Given the description of an element on the screen output the (x, y) to click on. 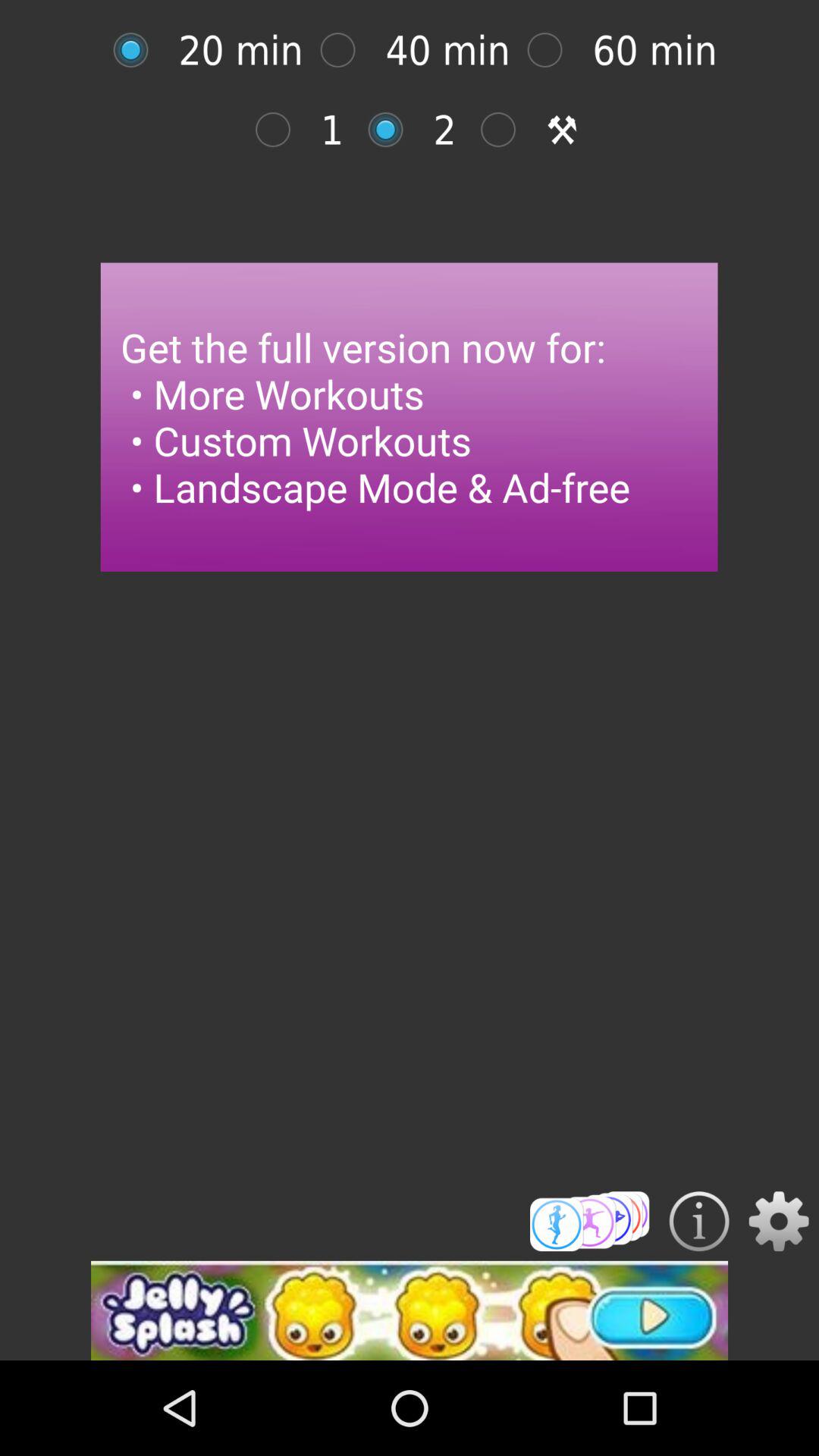
time zoomer (552, 49)
